Given the description of an element on the screen output the (x, y) to click on. 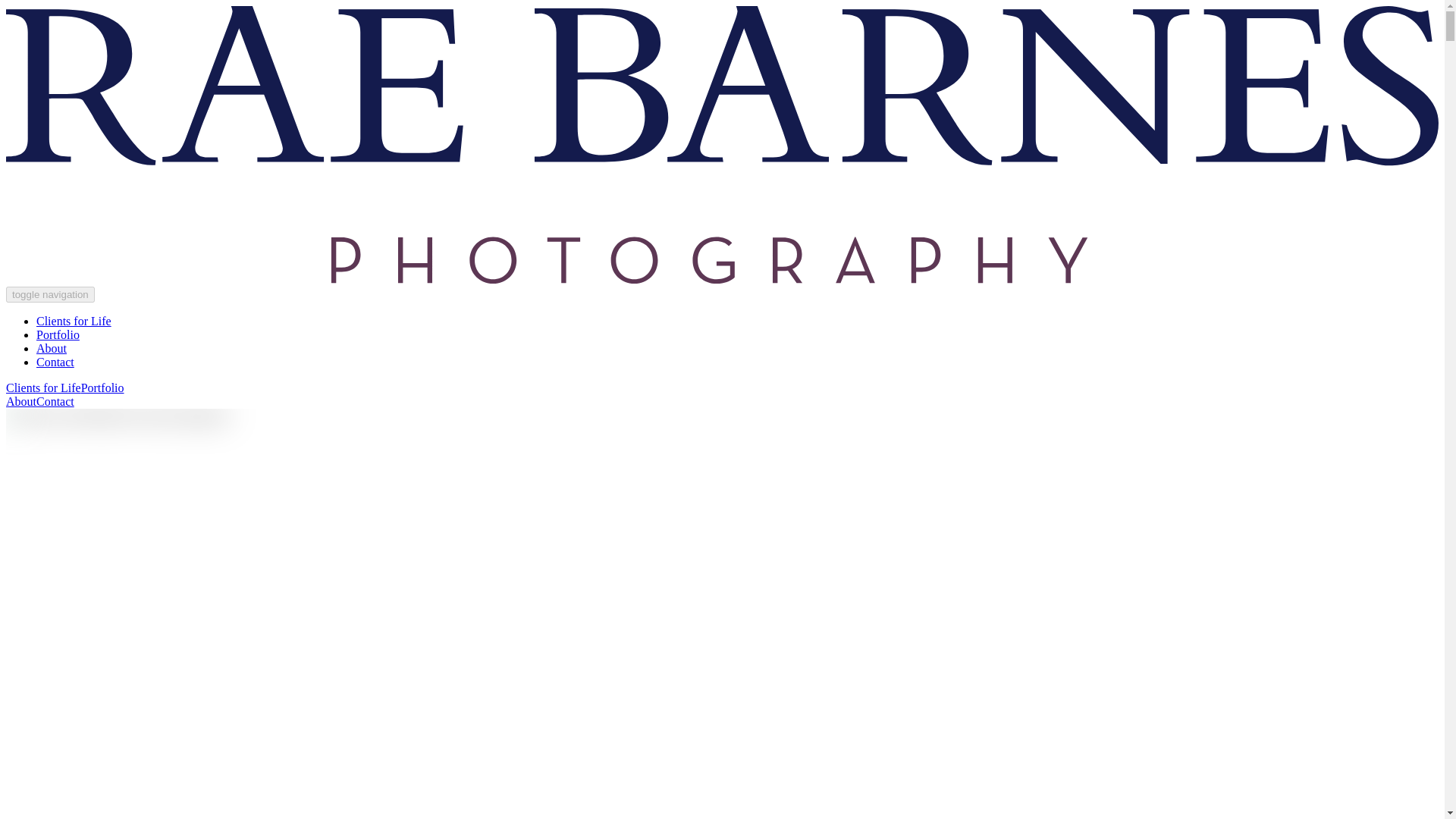
Contact (55, 361)
About (51, 348)
Clients for Life (74, 320)
Portfolio (102, 387)
toggle navigation (49, 294)
About (20, 400)
Clients for Life (43, 387)
Contact (55, 400)
Portfolio (58, 334)
